Given the description of an element on the screen output the (x, y) to click on. 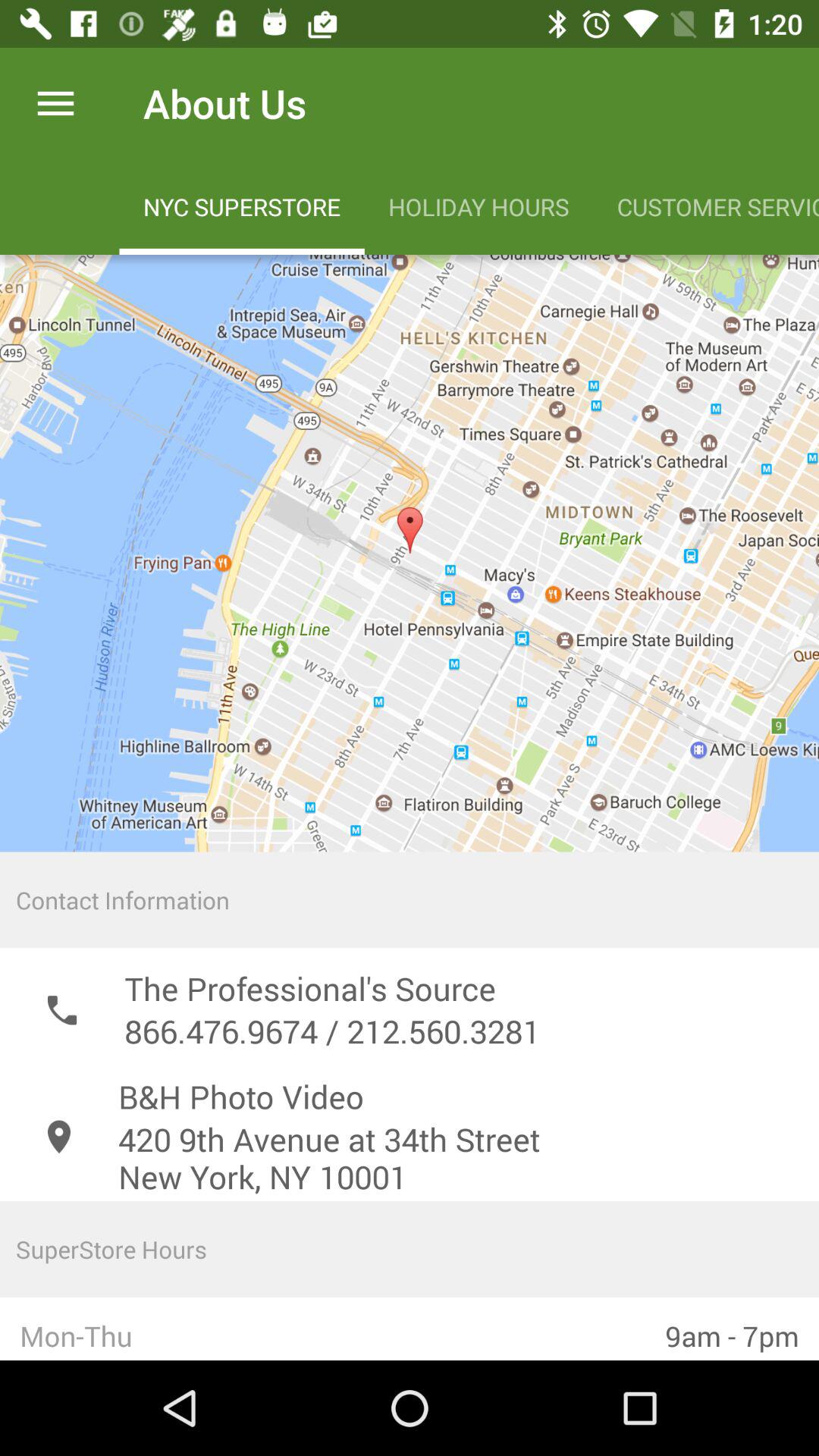
tap the icon to the right of mon-thu icon (732, 1328)
